Given the description of an element on the screen output the (x, y) to click on. 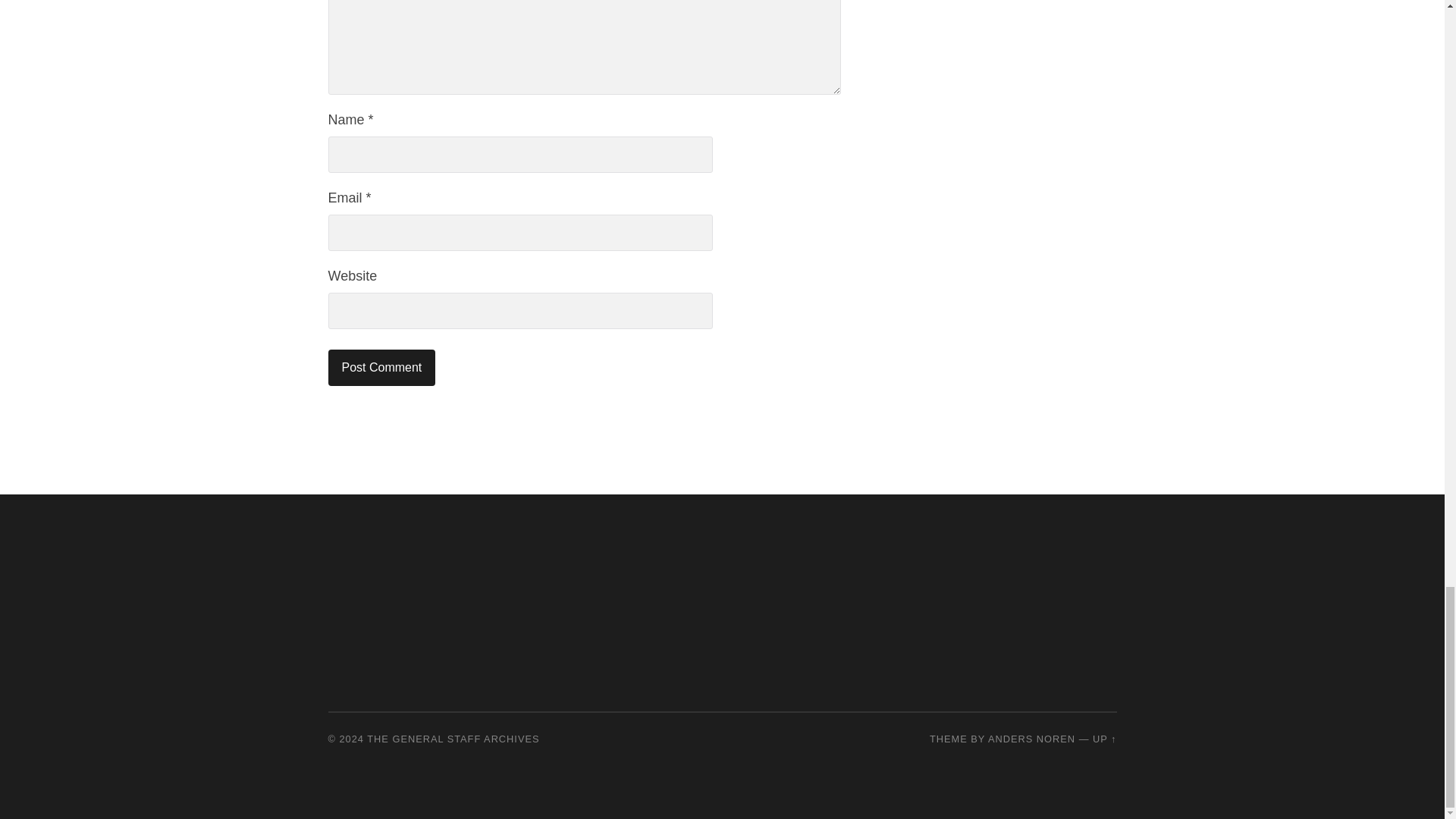
Post Comment (381, 367)
To the top (1104, 738)
